Given the description of an element on the screen output the (x, y) to click on. 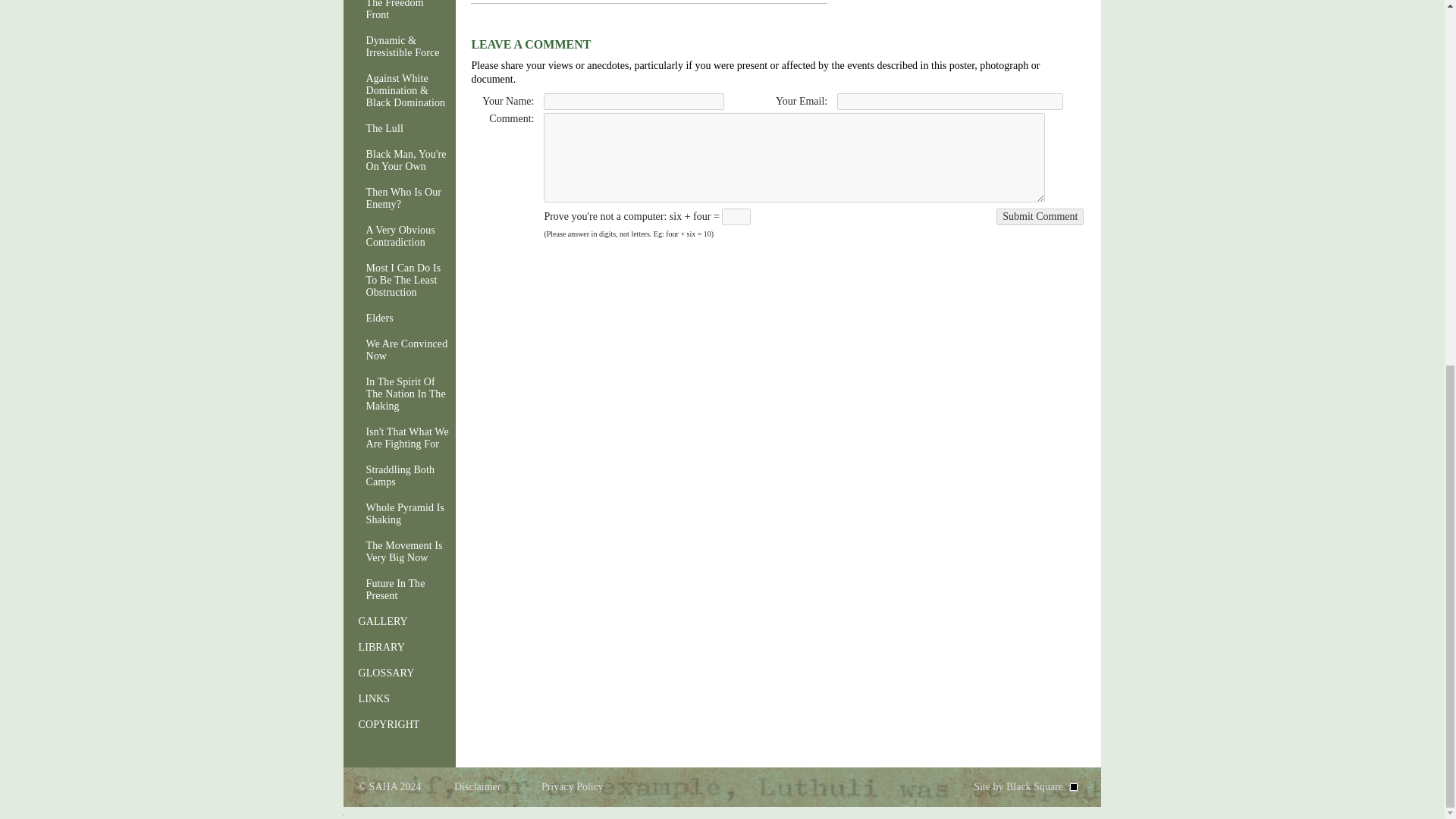
Elders (395, 318)
Future In The Present (395, 589)
GALLERY (395, 621)
Submit Comment (1039, 216)
Most I Can Do Is To Be The Least Obstruction (395, 280)
We Are Convinced Now (395, 349)
A Very Obvious Contradiction (395, 236)
Black Man, You'Re On Your Own (395, 160)
The Freedom Front (395, 12)
In The Spirit Of The Nation In The Making (395, 393)
COPYRIGHT (395, 724)
Isn'T That What We Are Fighting For (395, 438)
LIBRARY (395, 647)
Whole Pyramid Is Shaking (395, 513)
Then Who Is Our Enemy? (395, 198)
